Given the description of an element on the screen output the (x, y) to click on. 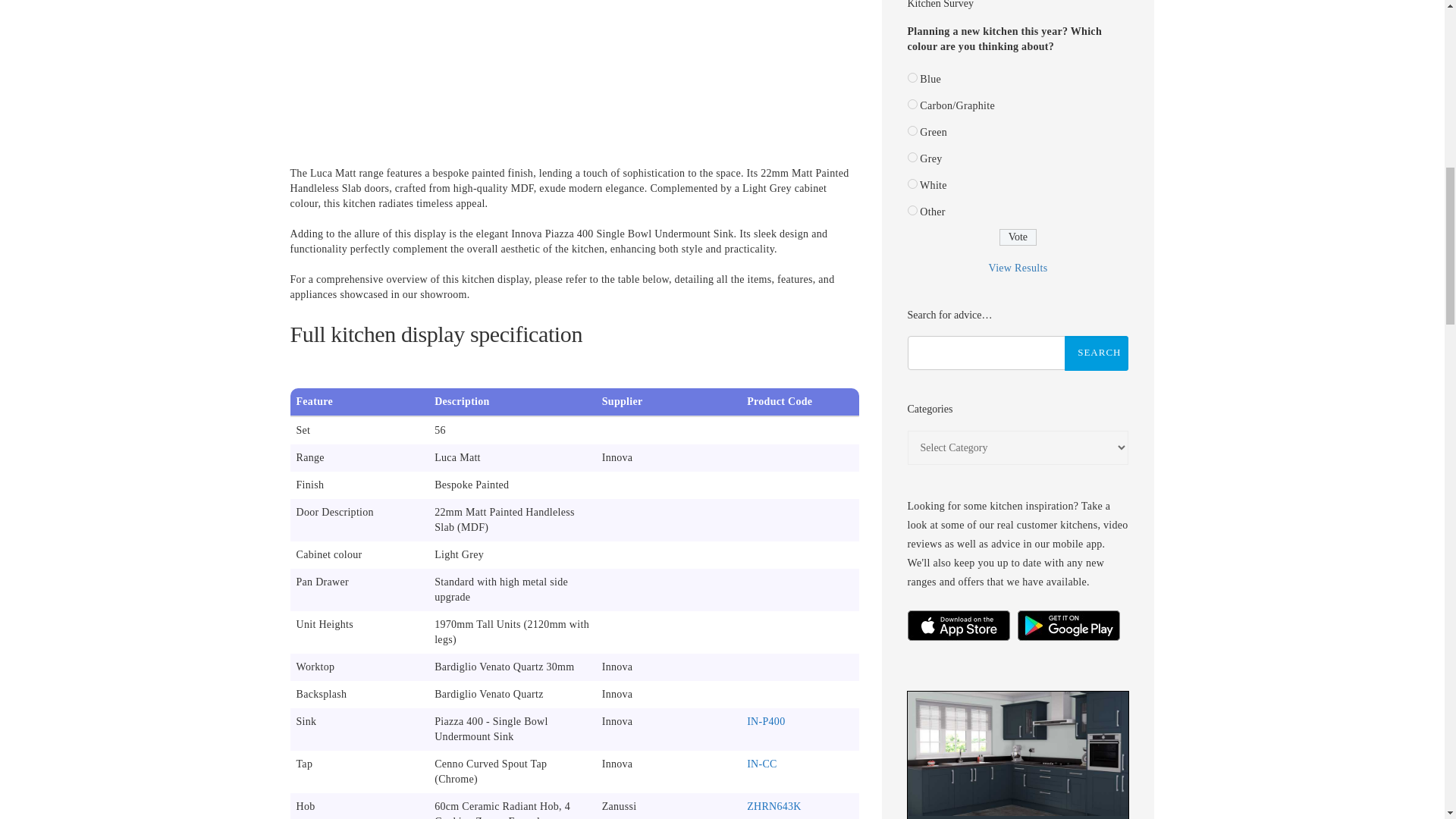
10 (912, 130)
9 (912, 103)
8 (912, 77)
Search (1096, 353)
   Vote    (1016, 237)
Feature Description Supplier Product Code (574, 402)
Feature Description Supplier Product Code (574, 402)
Luca Bespoke Painted - Display 56 (574, 63)
IN-CC (761, 763)
13 (912, 210)
IN-P400 (765, 721)
12 (912, 184)
11 (912, 157)
ZHRN643K (774, 806)
